Given the description of an element on the screen output the (x, y) to click on. 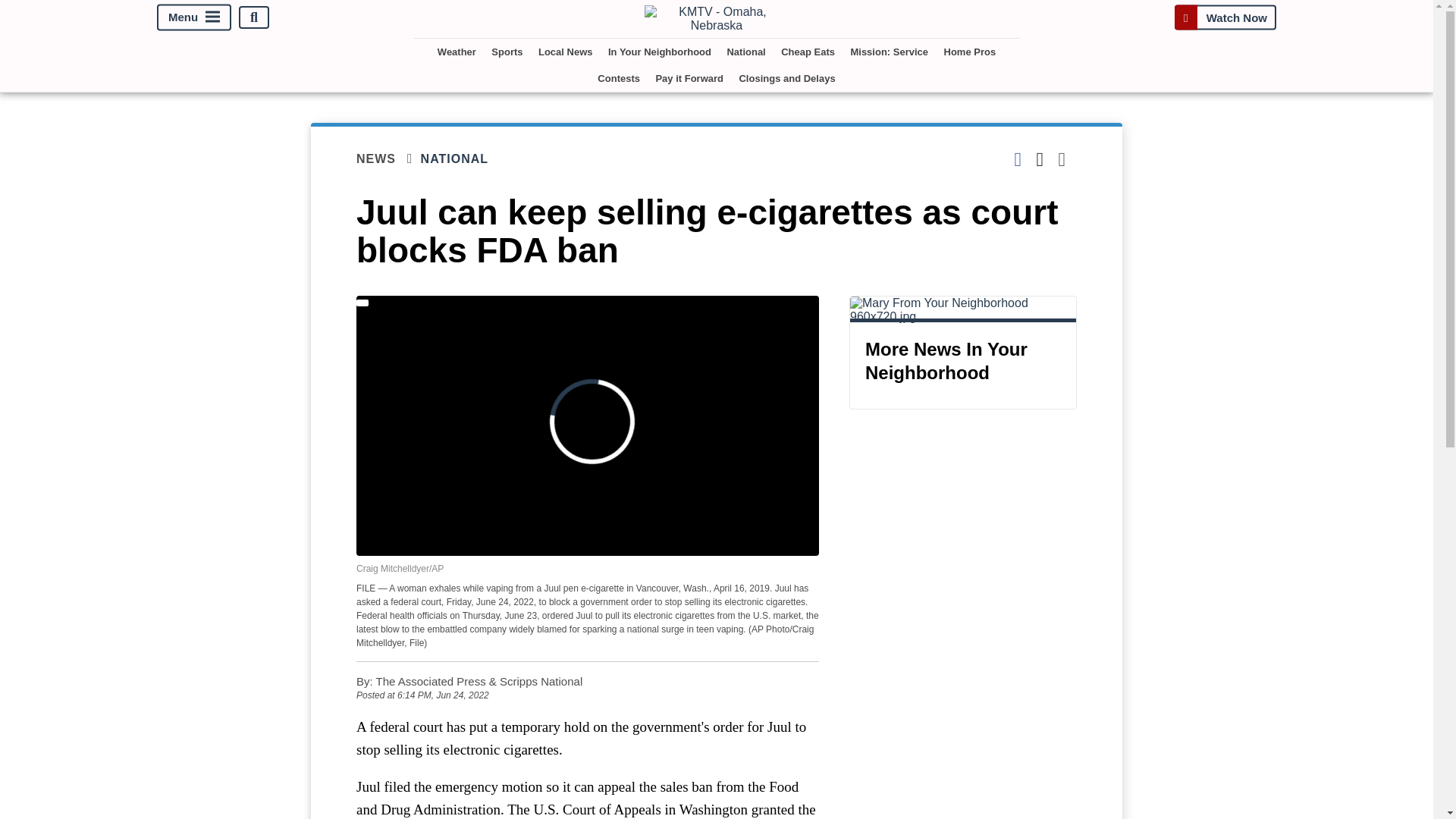
Watch Now (1224, 16)
Menu (194, 17)
